Given the description of an element on the screen output the (x, y) to click on. 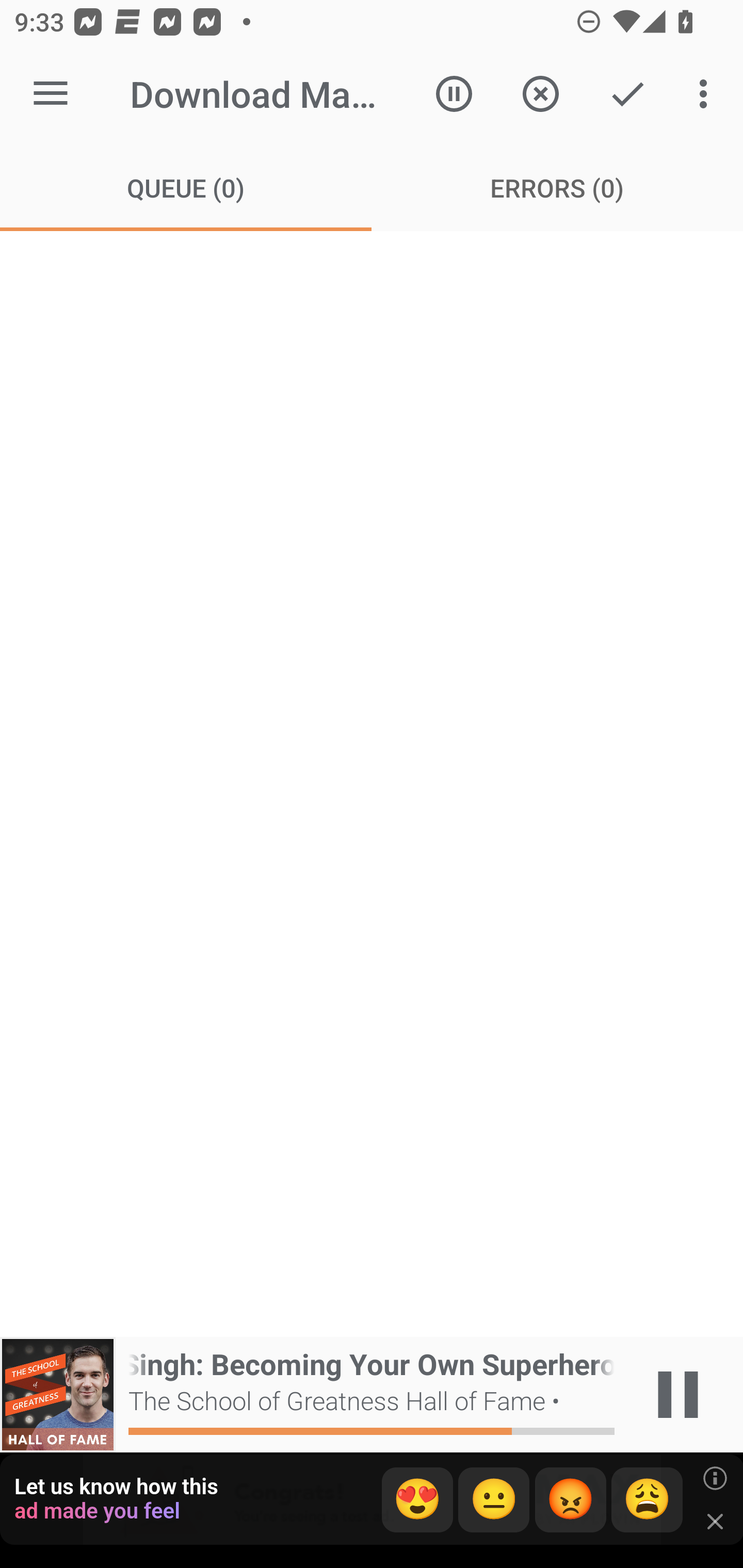
Open navigation sidebar (50, 93)
Pause downloads... (453, 93)
Cancel Downloads (540, 93)
Action Mode (626, 93)
More options (706, 93)
Errors (0) ERRORS (0) (557, 187)
Play / Pause (677, 1394)
app-monetization (371, 1500)
😍 (416, 1499)
😐 (493, 1499)
😡 (570, 1499)
😩 (647, 1499)
